Given the description of an element on the screen output the (x, y) to click on. 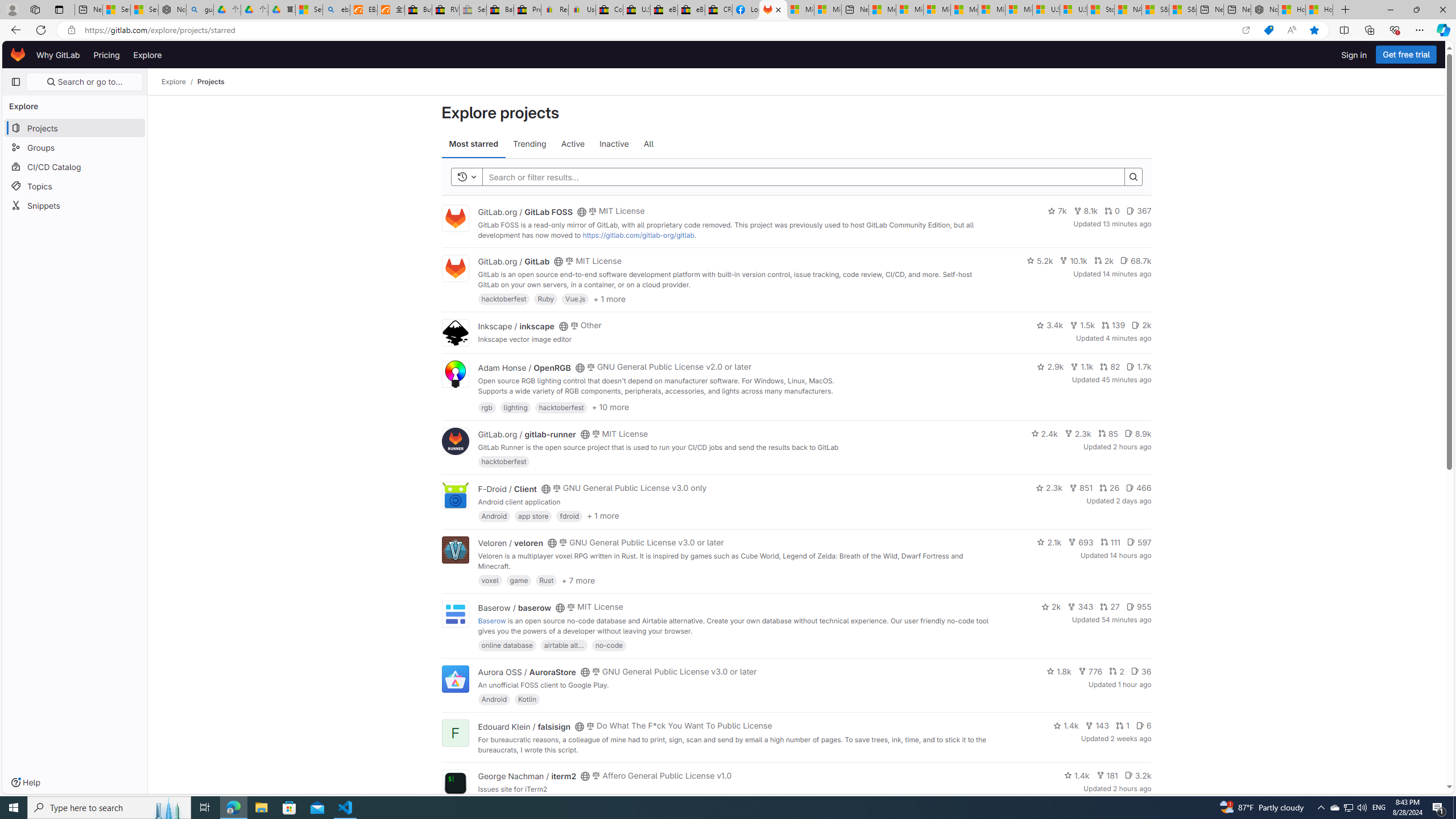
Android (494, 699)
2.4k (1044, 433)
Homepage (17, 54)
693 (1080, 541)
Register: Create a personal eBay account (554, 9)
Snippets (74, 205)
5.2k (1039, 259)
https://openrgb.org (574, 400)
181 (1107, 775)
Microsoft account | Home (936, 9)
